Given the description of an element on the screen output the (x, y) to click on. 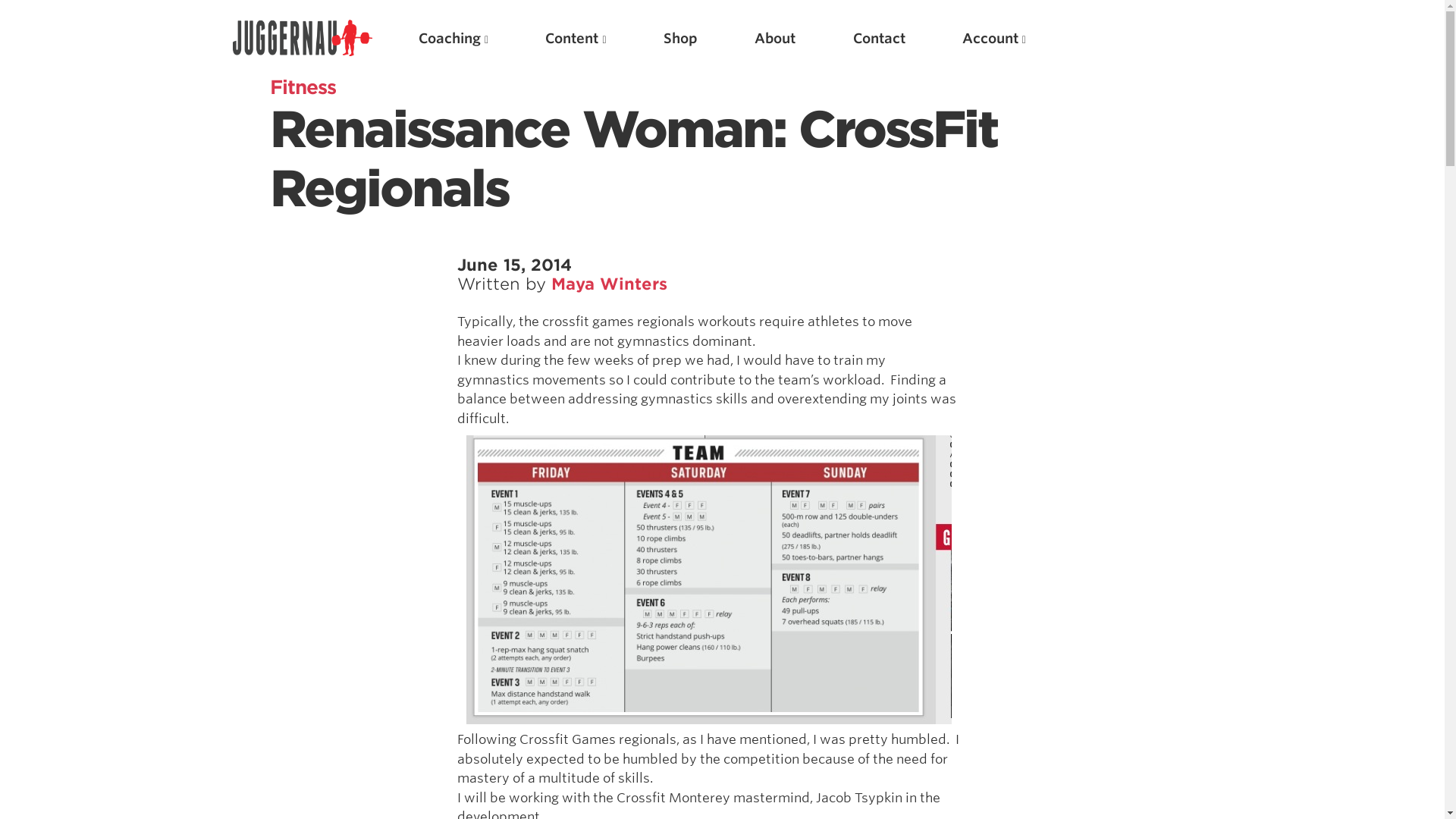
Shop (680, 37)
Content (574, 37)
Coaching (453, 37)
Maya Winters (608, 283)
Account (994, 37)
Juggernaut Training Systems (302, 38)
Fitness (302, 87)
About (774, 37)
Contact (879, 37)
